Given the description of an element on the screen output the (x, y) to click on. 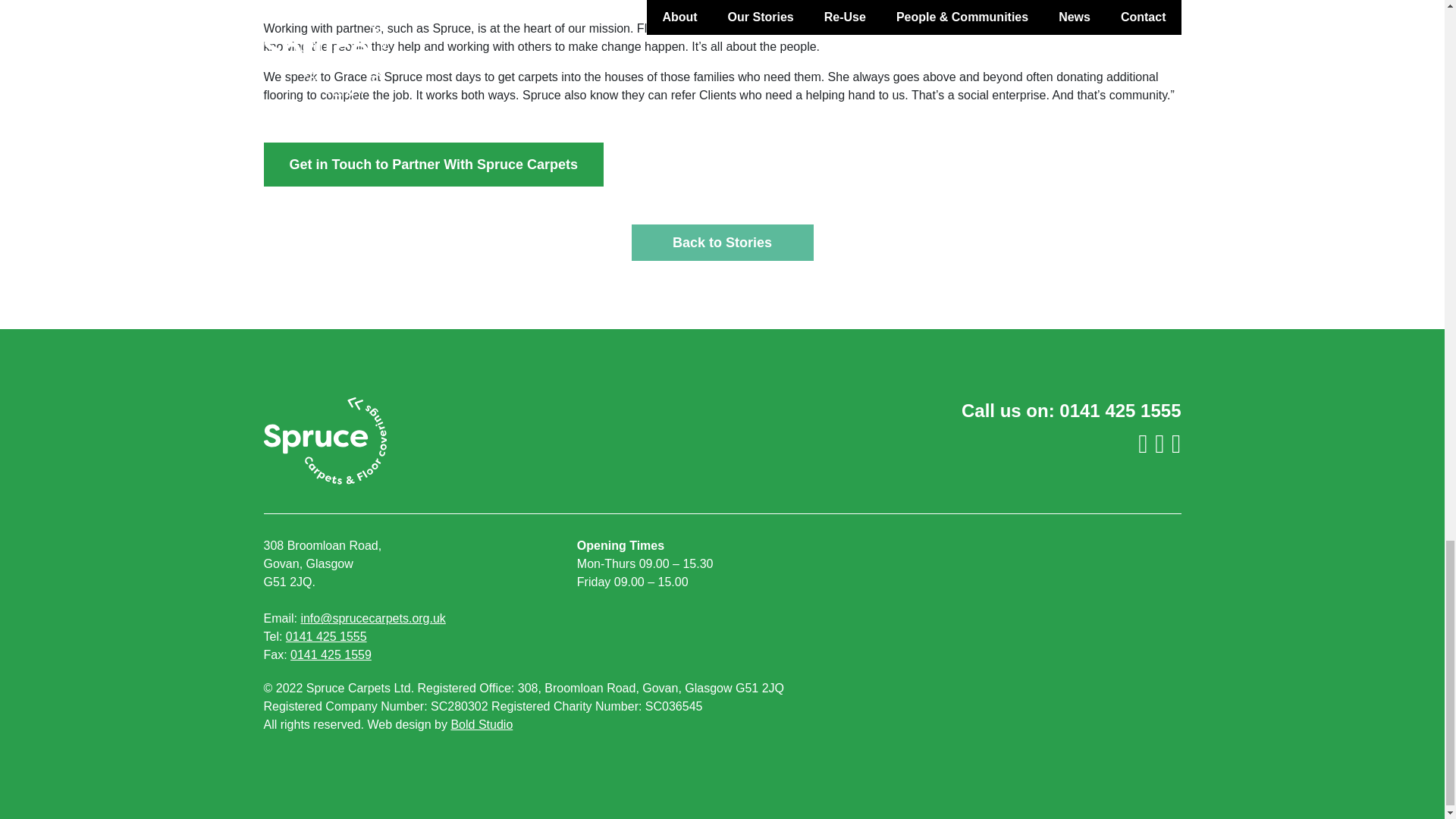
0141 425 1555 (1119, 410)
0141 425 1559 (330, 654)
Back to Stories (721, 242)
Get in Touch to Partner With Spruce Carpets (433, 164)
0141 425 1555 (325, 635)
Bold Studio (480, 724)
